Given the description of an element on the screen output the (x, y) to click on. 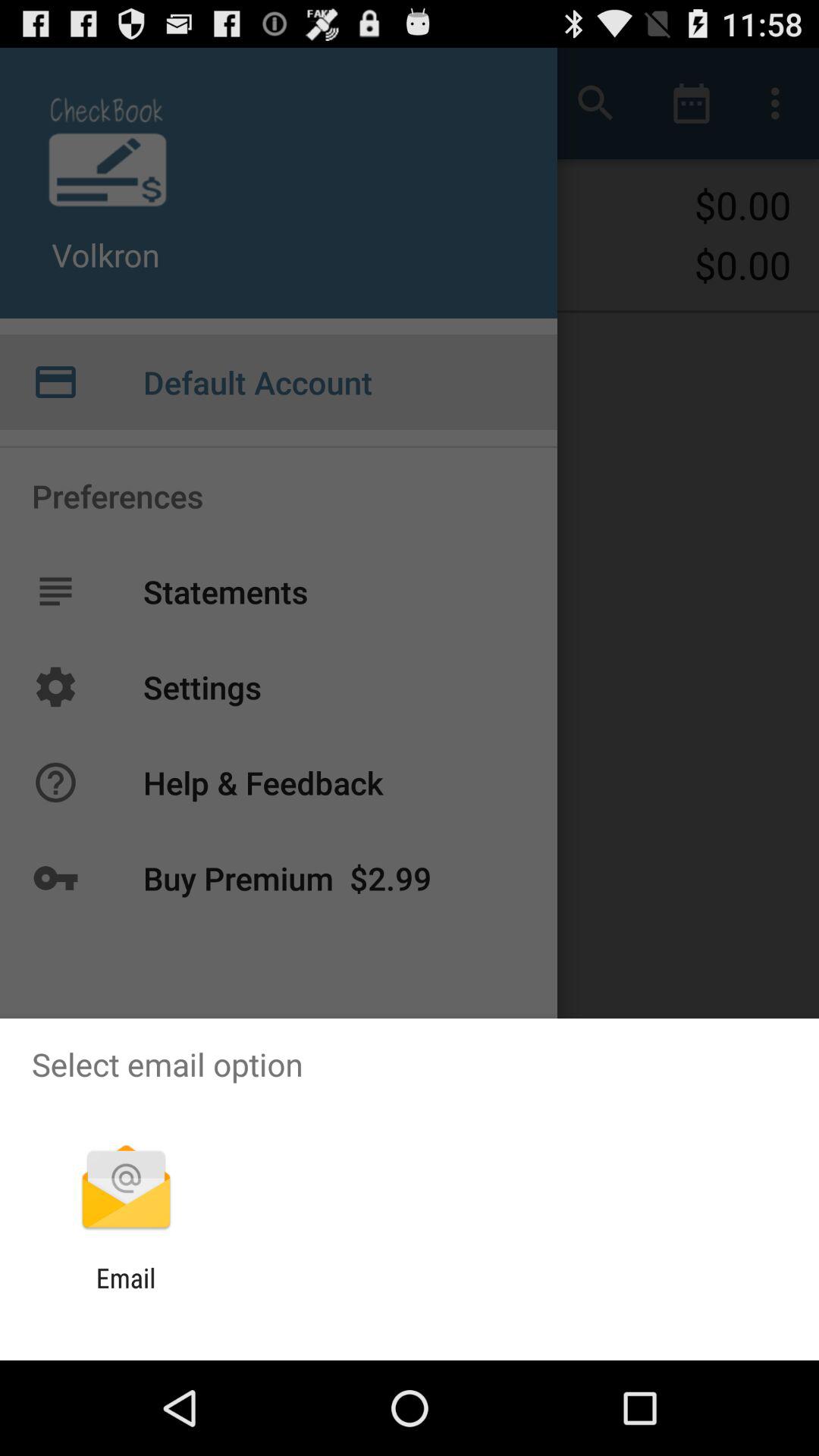
click app above email item (126, 1189)
